Given the description of an element on the screen output the (x, y) to click on. 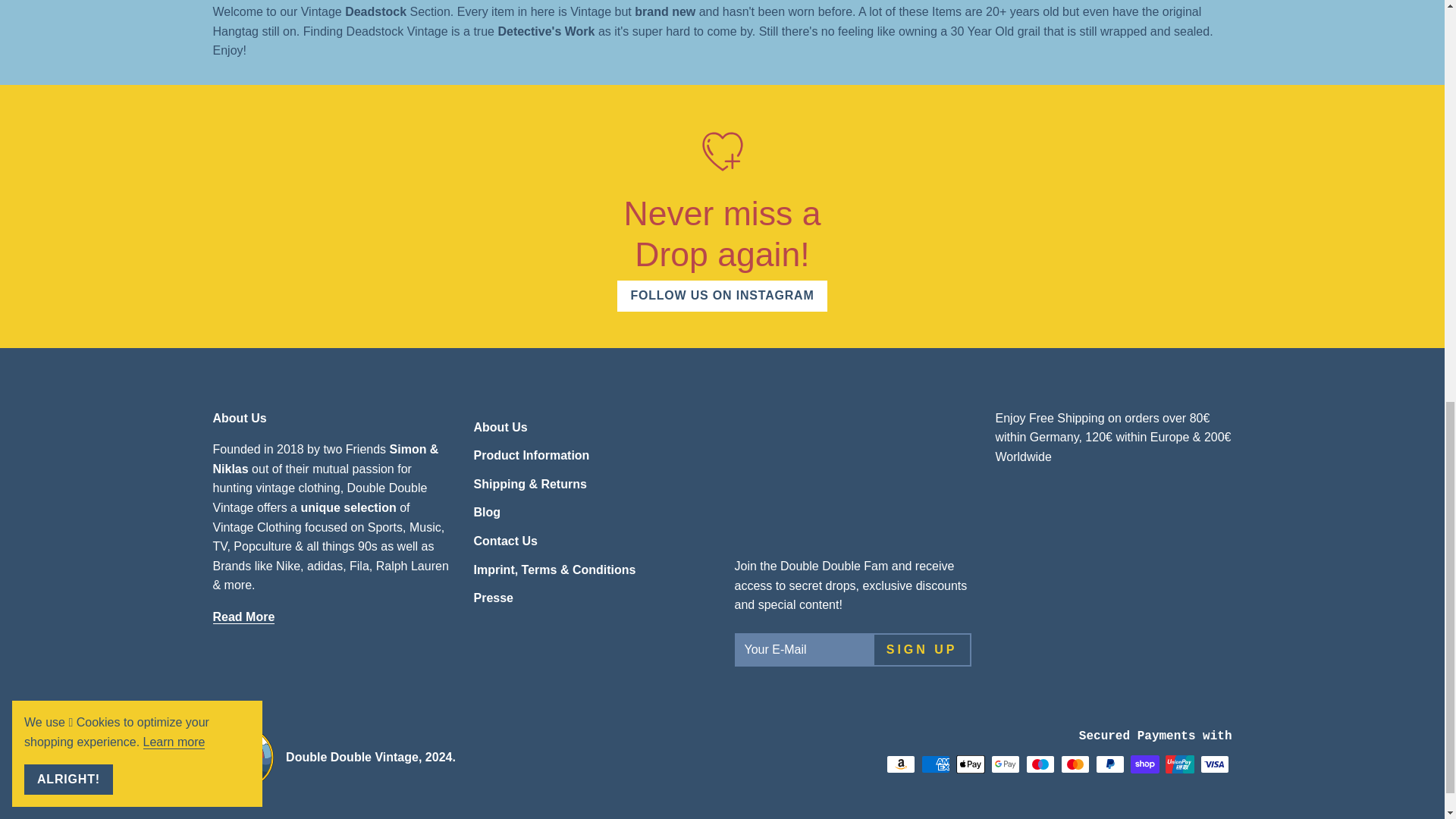
American Express (934, 764)
Union Pay (1178, 764)
Mastercard (1074, 764)
PayPal (1109, 764)
Maestro (1039, 764)
Google Pay (1004, 764)
Shop Pay (1143, 764)
Apple Pay (969, 764)
Amazon (899, 764)
Visa (1213, 764)
